Given the description of an element on the screen output the (x, y) to click on. 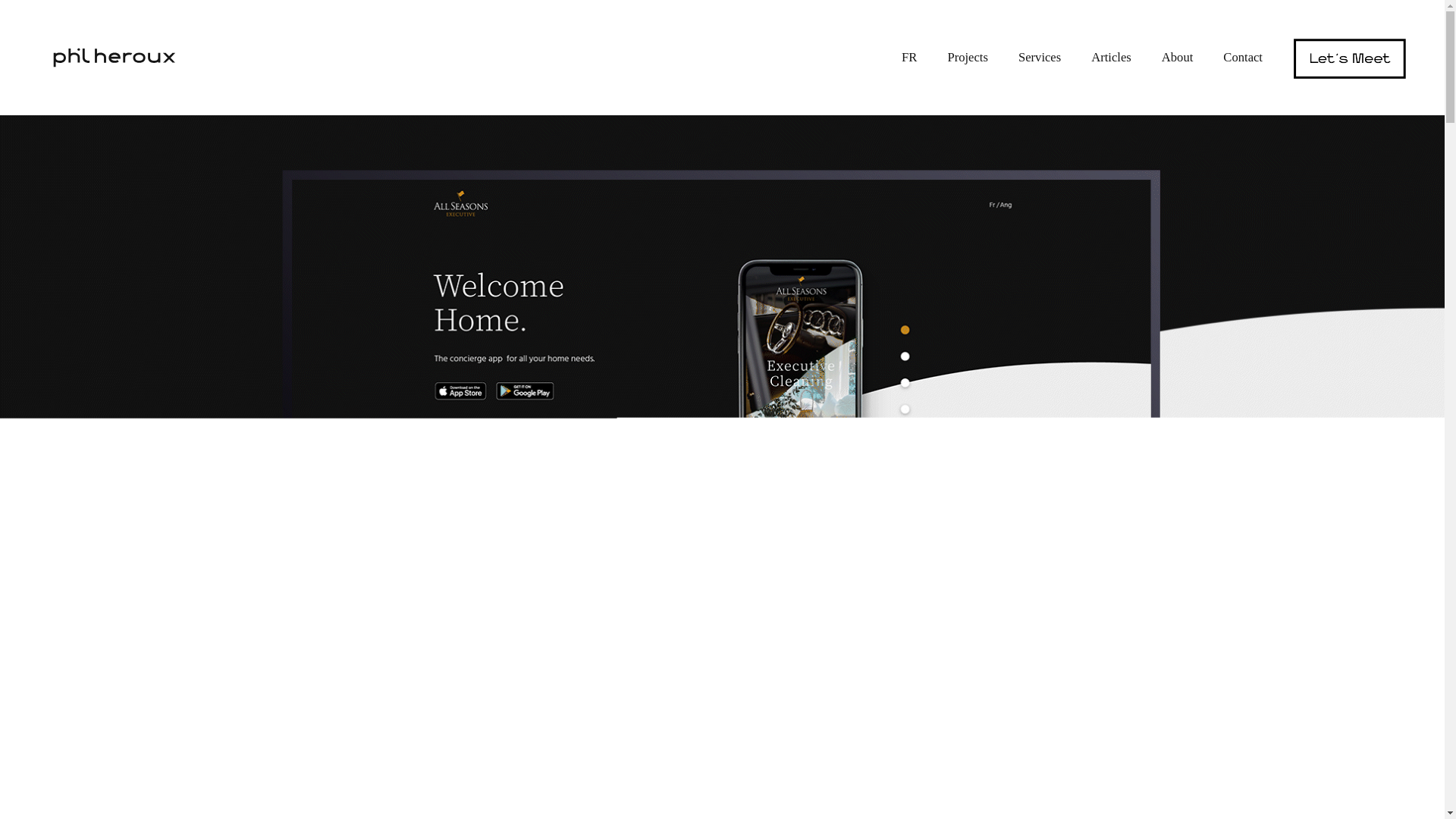
Contact (1242, 57)
Projects (967, 57)
Projects (967, 57)
About (1177, 57)
Articles (1110, 57)
Contact (1242, 57)
Services (1039, 57)
Articles (1110, 57)
FR (909, 57)
Services (1039, 57)
